Given the description of an element on the screen output the (x, y) to click on. 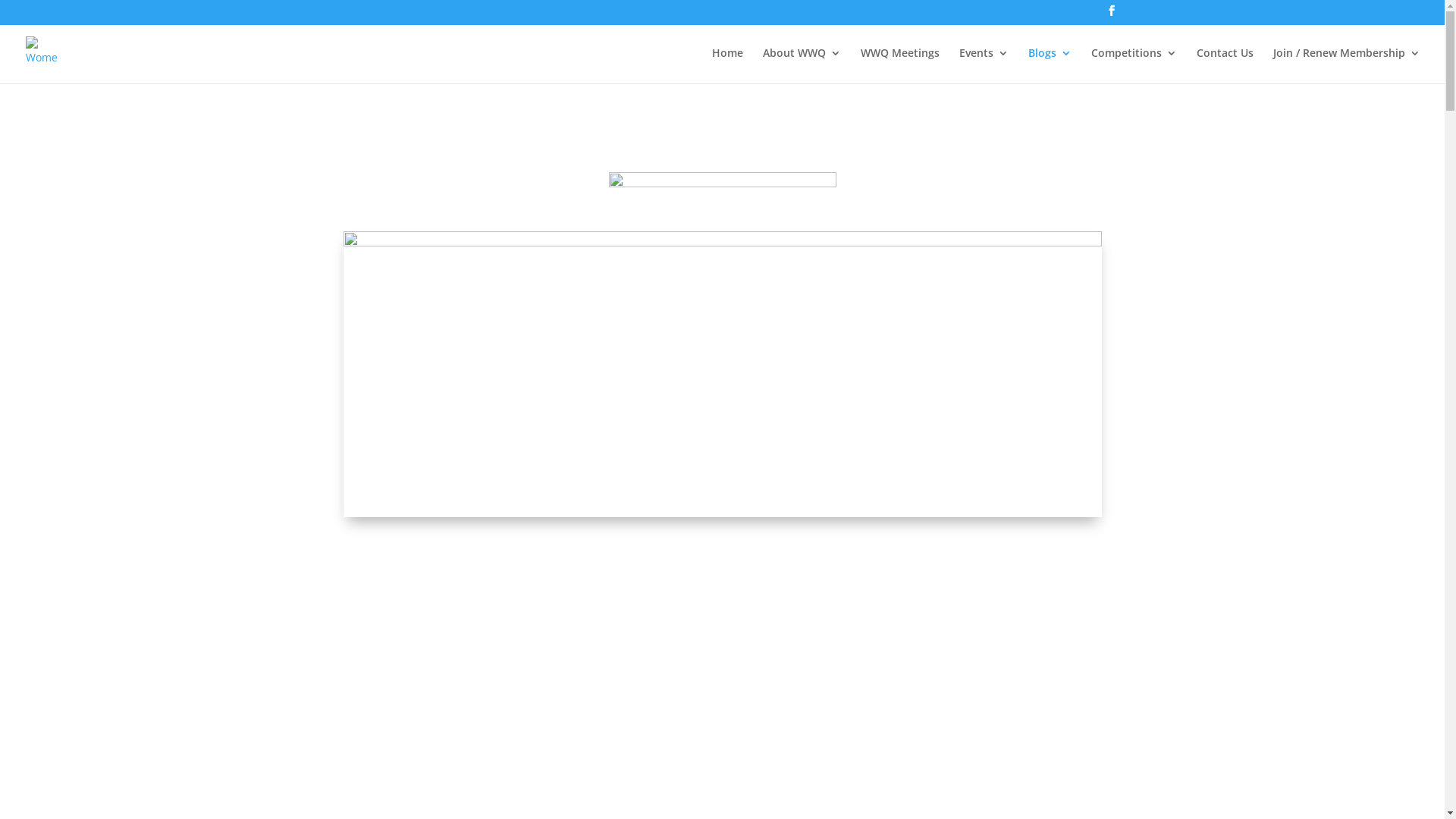
Join / Renew Membership Element type: text (1346, 65)
WWQ Meetings Element type: text (899, 65)
Contact Us Element type: text (1224, 65)
Competitions Element type: text (1133, 65)
About WWQ Element type: text (801, 65)
Home Element type: text (727, 65)
Blogs Element type: text (1049, 65)
Events Element type: text (983, 65)
